Given the description of an element on the screen output the (x, y) to click on. 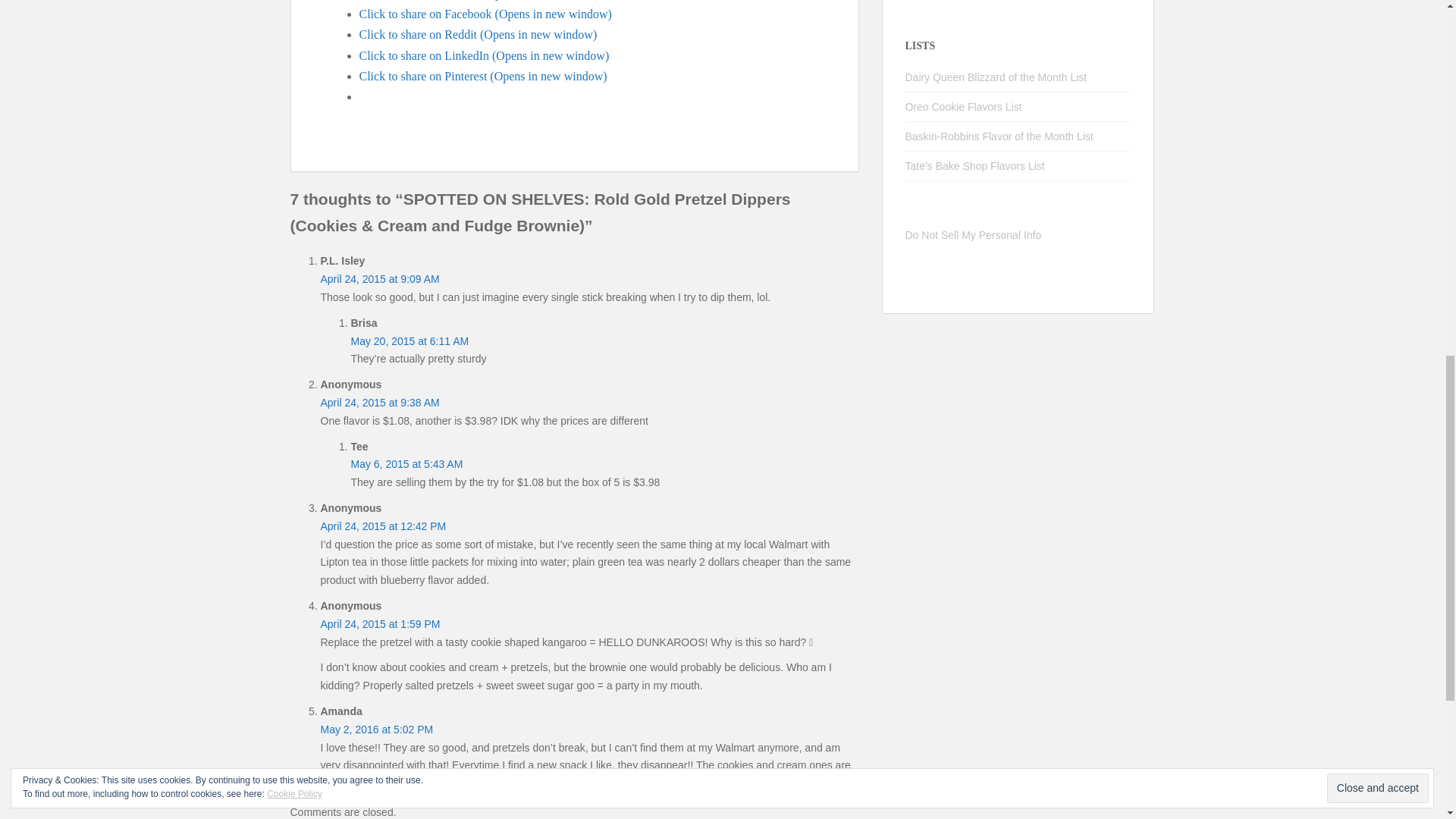
April 24, 2015 at 12:42 PM (382, 526)
Click to share on Reddit (477, 33)
Click to share on Pinterest (483, 75)
April 24, 2015 at 9:38 AM (379, 402)
Click to share on LinkedIn (484, 55)
April 24, 2015 at 1:59 PM (379, 623)
May 6, 2015 at 5:43 AM (406, 463)
April 24, 2015 at 9:09 AM (379, 278)
May 20, 2015 at 6:11 AM (409, 340)
Click to share on Facebook (485, 13)
May 2, 2016 at 5:02 PM (376, 729)
